Given the description of an element on the screen output the (x, y) to click on. 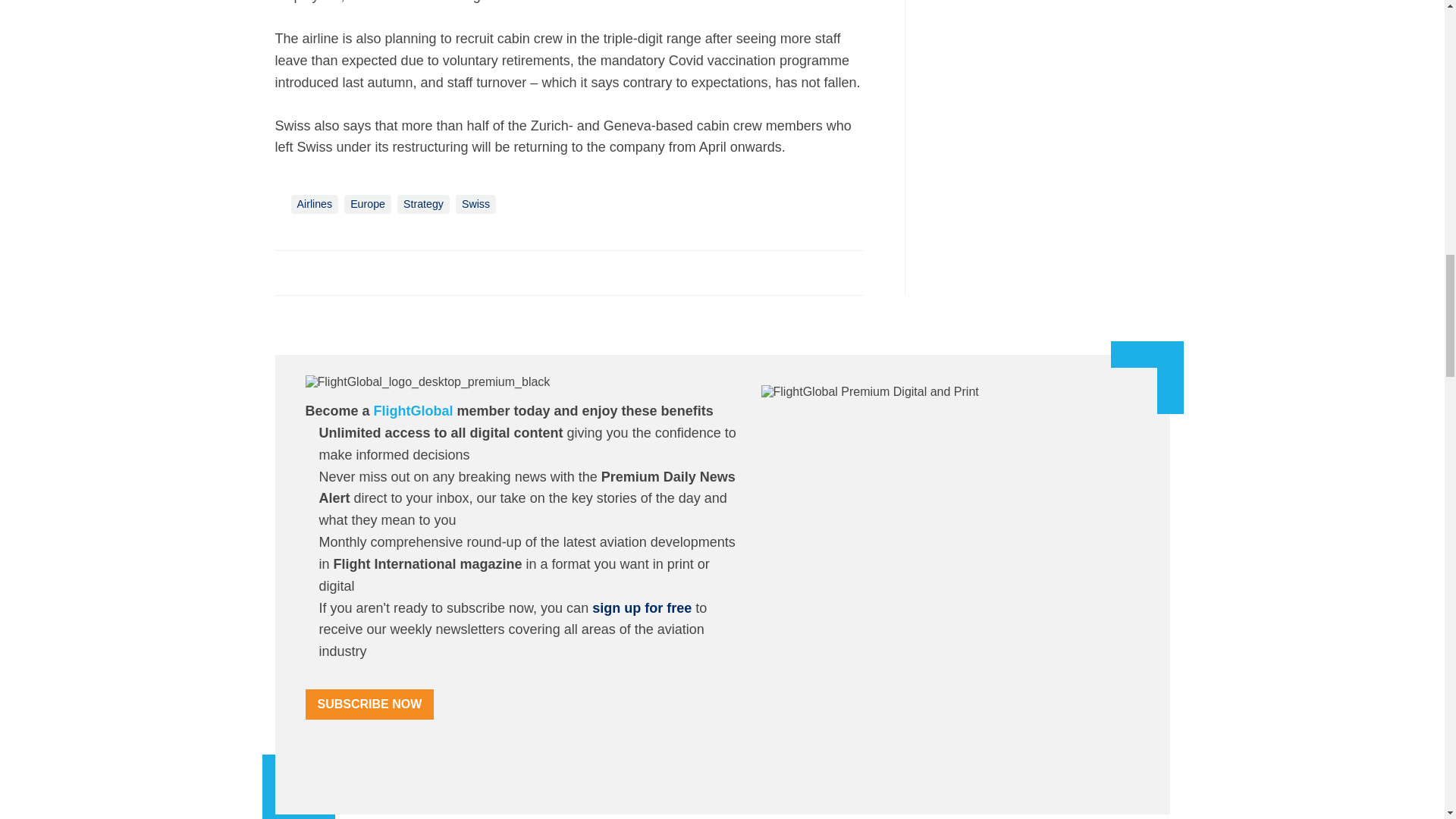
Share this on Twitter (320, 271)
Email this article (386, 271)
Share this on Facebook (288, 271)
Share this on Linked in (352, 271)
